Given the description of an element on the screen output the (x, y) to click on. 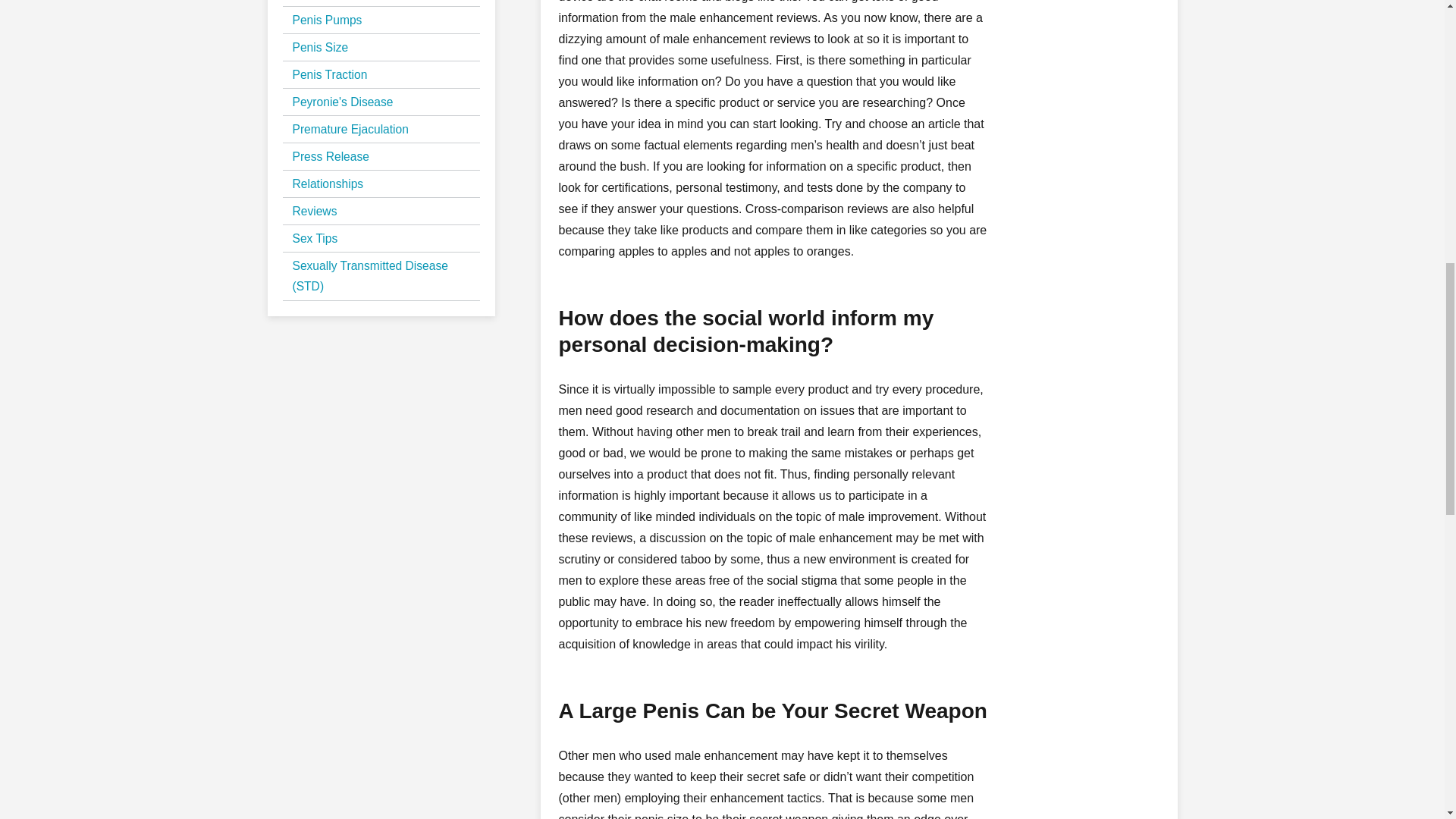
Peyronie's Disease (342, 101)
Sex Tips (314, 238)
Premature Ejaculation (350, 128)
Penis Size (320, 46)
Press Release (330, 156)
Penis Traction (330, 74)
Penis Extenders (335, 1)
